Given the description of an element on the screen output the (x, y) to click on. 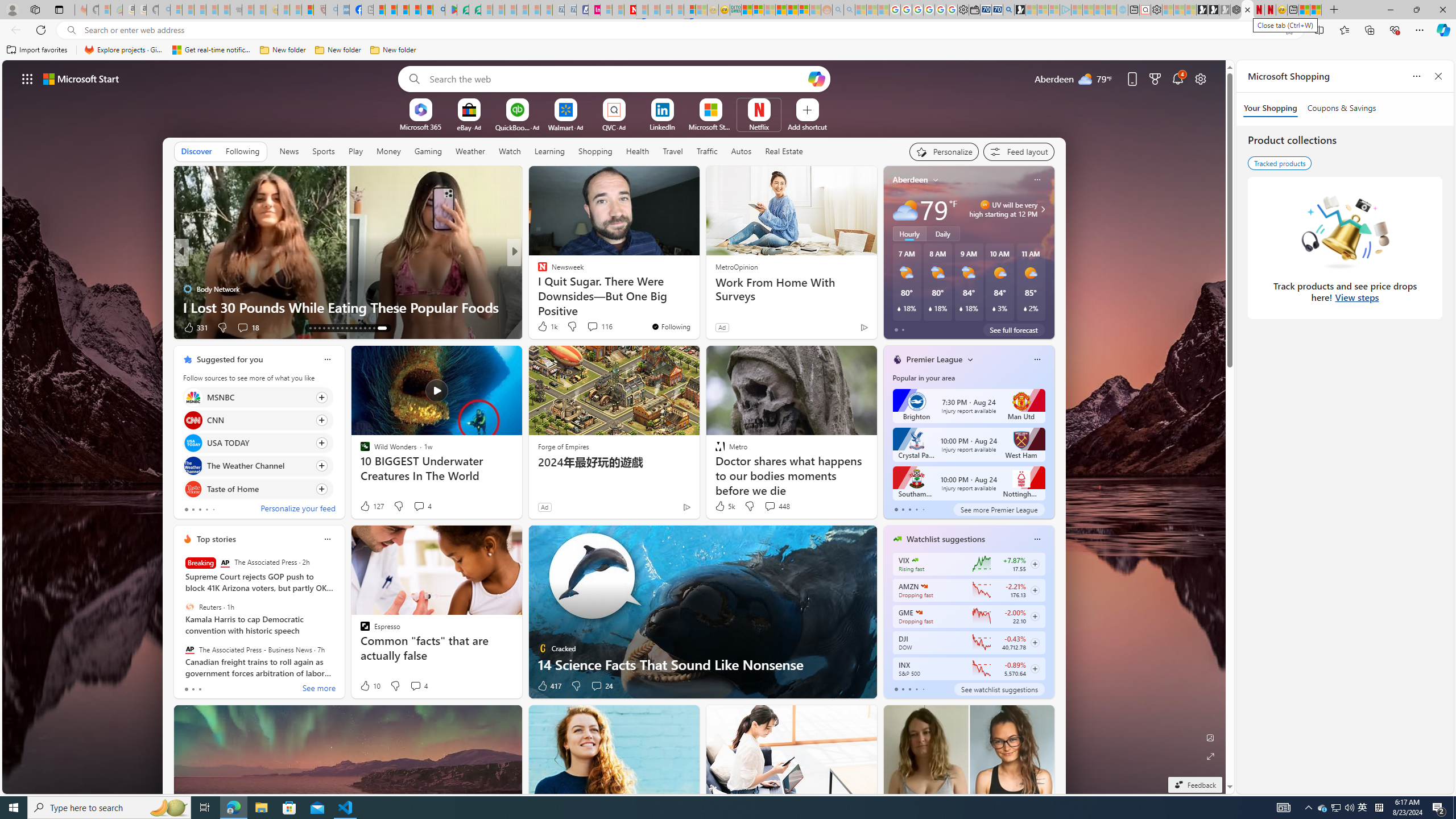
10 Like (368, 685)
View comments 4 Comment (418, 685)
Microsoft start (81, 78)
View comments 4 Comment (414, 685)
More Options (777, 101)
Jobs - lastminute.com Investor Portal (594, 9)
